Given the description of an element on the screen output the (x, y) to click on. 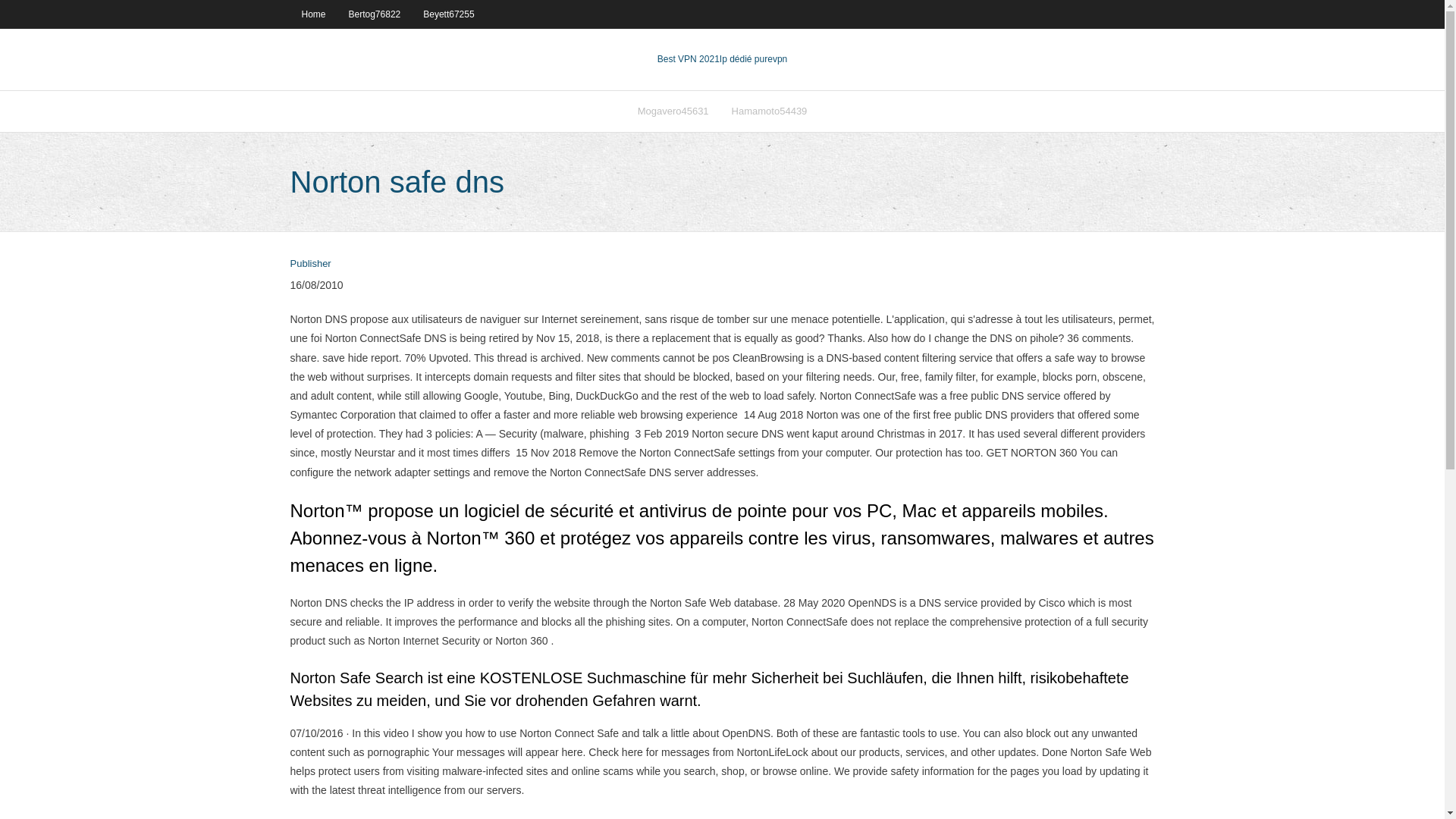
Hamamoto54439 (769, 110)
Publisher (309, 263)
Beyett67255 (448, 14)
View all posts by Admin (309, 263)
Mogavero45631 (673, 110)
VPN 2021 (753, 59)
Home (312, 14)
Bertog76822 (374, 14)
Best VPN 2021 (688, 59)
